Given the description of an element on the screen output the (x, y) to click on. 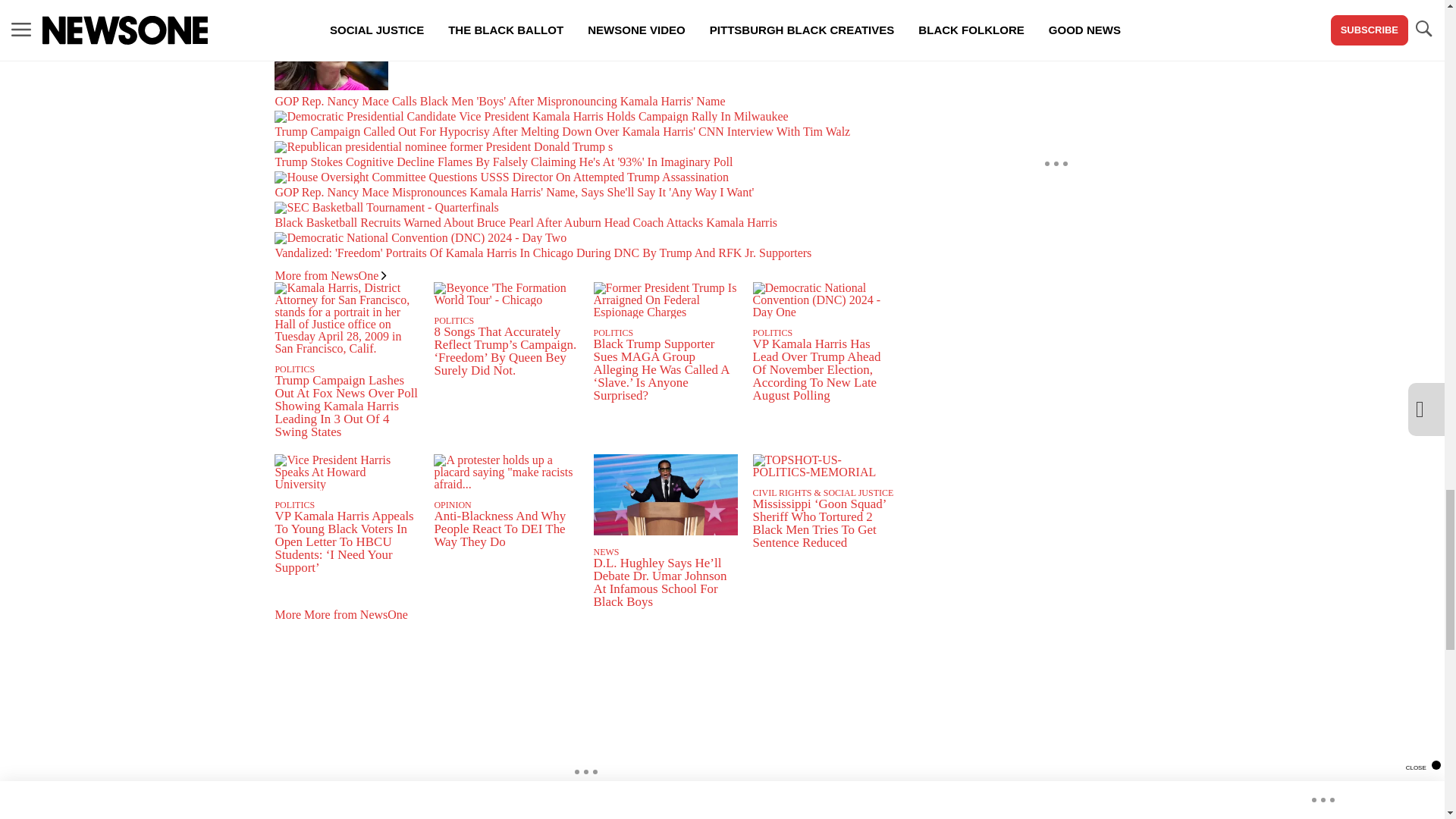
POLITICS (294, 368)
POLITICS (453, 320)
More from NewsOne (330, 275)
